Given the description of an element on the screen output the (x, y) to click on. 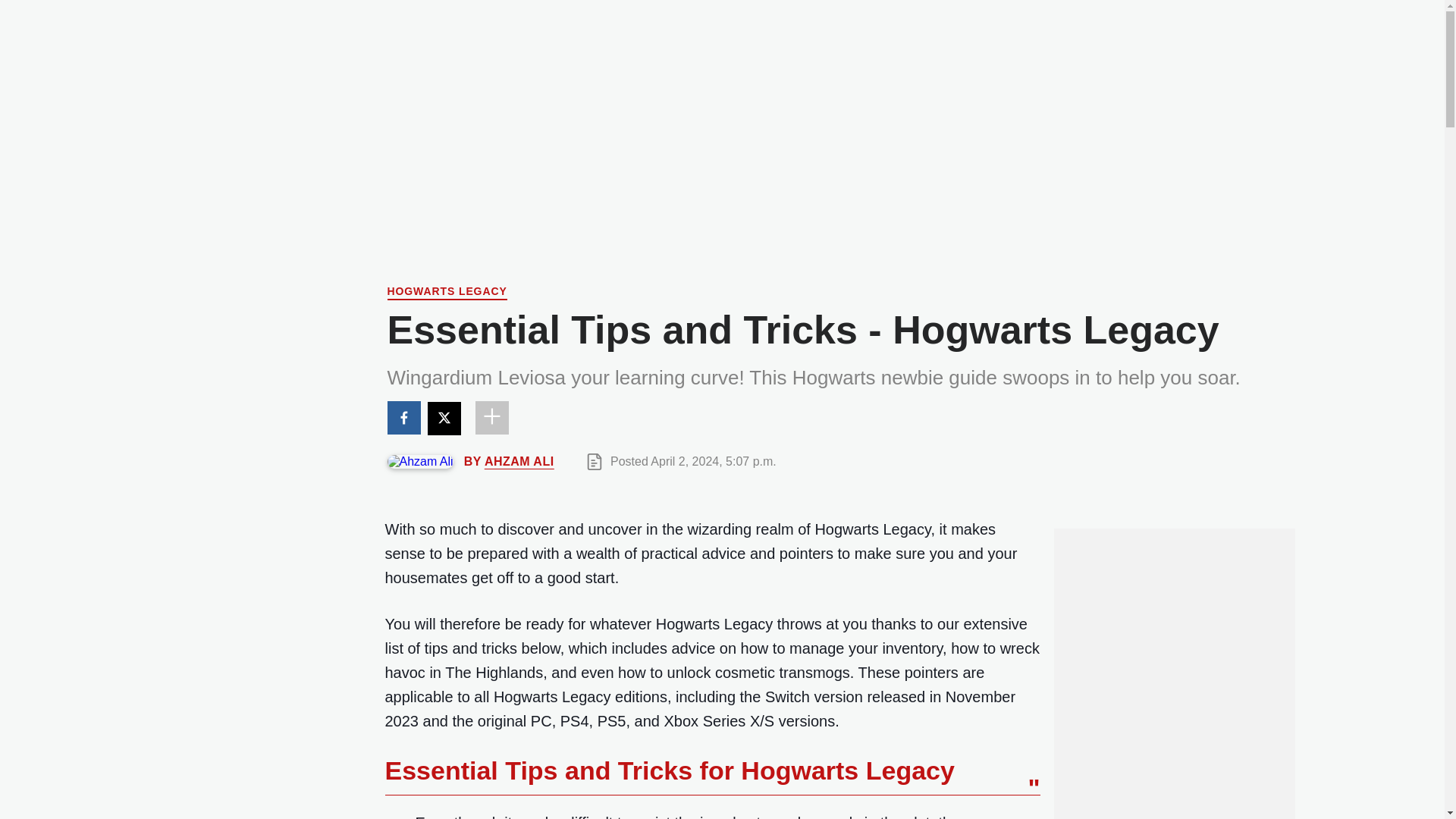
HOGWARTS LEGACY (446, 292)
AHZAM ALI (519, 461)
Hogwarts Legacy (446, 292)
